Given the description of an element on the screen output the (x, y) to click on. 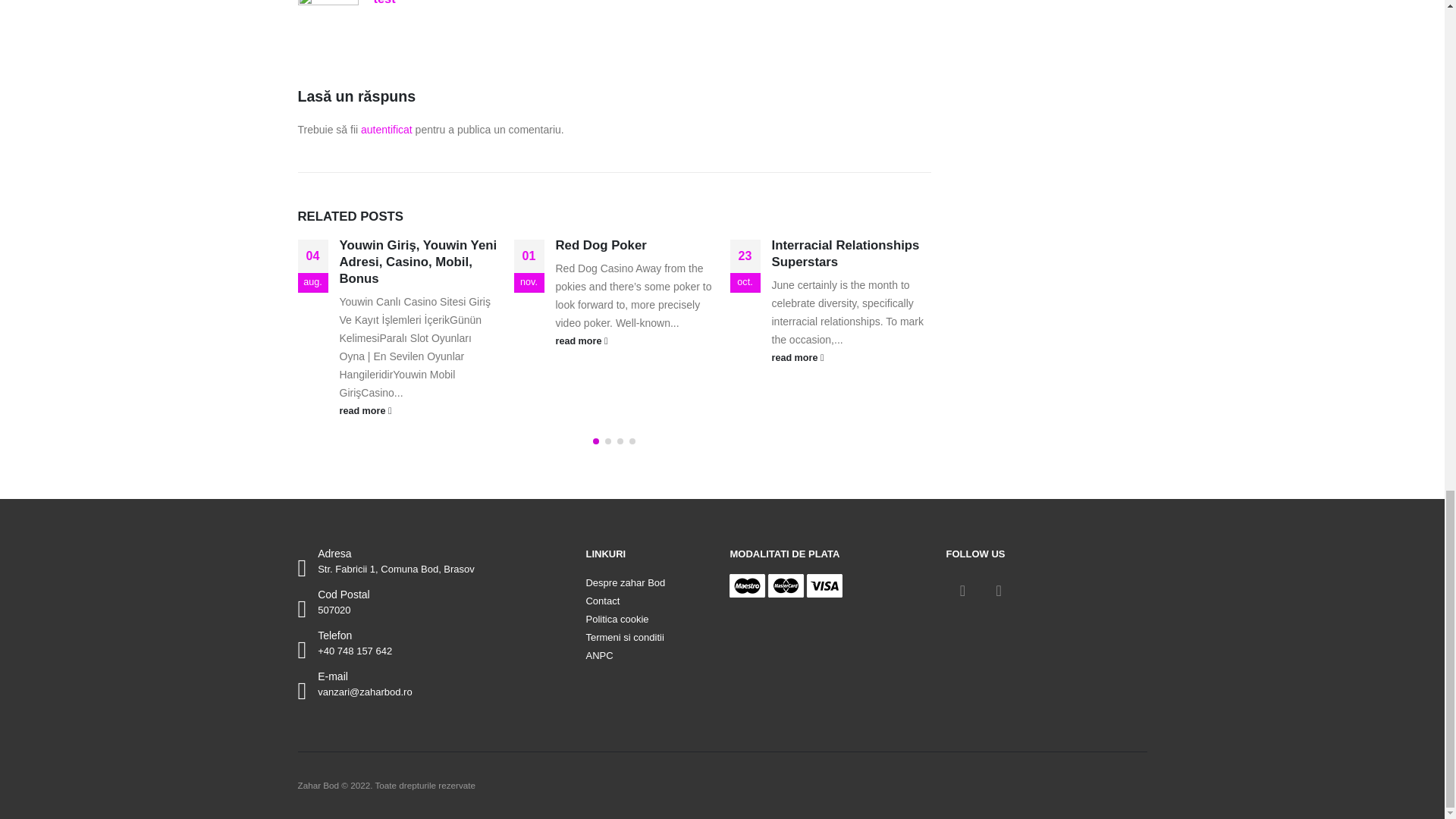
read more (851, 357)
Articole de test (383, 2)
autentificat (386, 129)
read more (419, 410)
Instagram (998, 590)
read more (634, 341)
Interracial Relationships Superstars (845, 253)
Facebook (961, 590)
test (383, 2)
Red Dog Poker (600, 245)
